Given the description of an element on the screen output the (x, y) to click on. 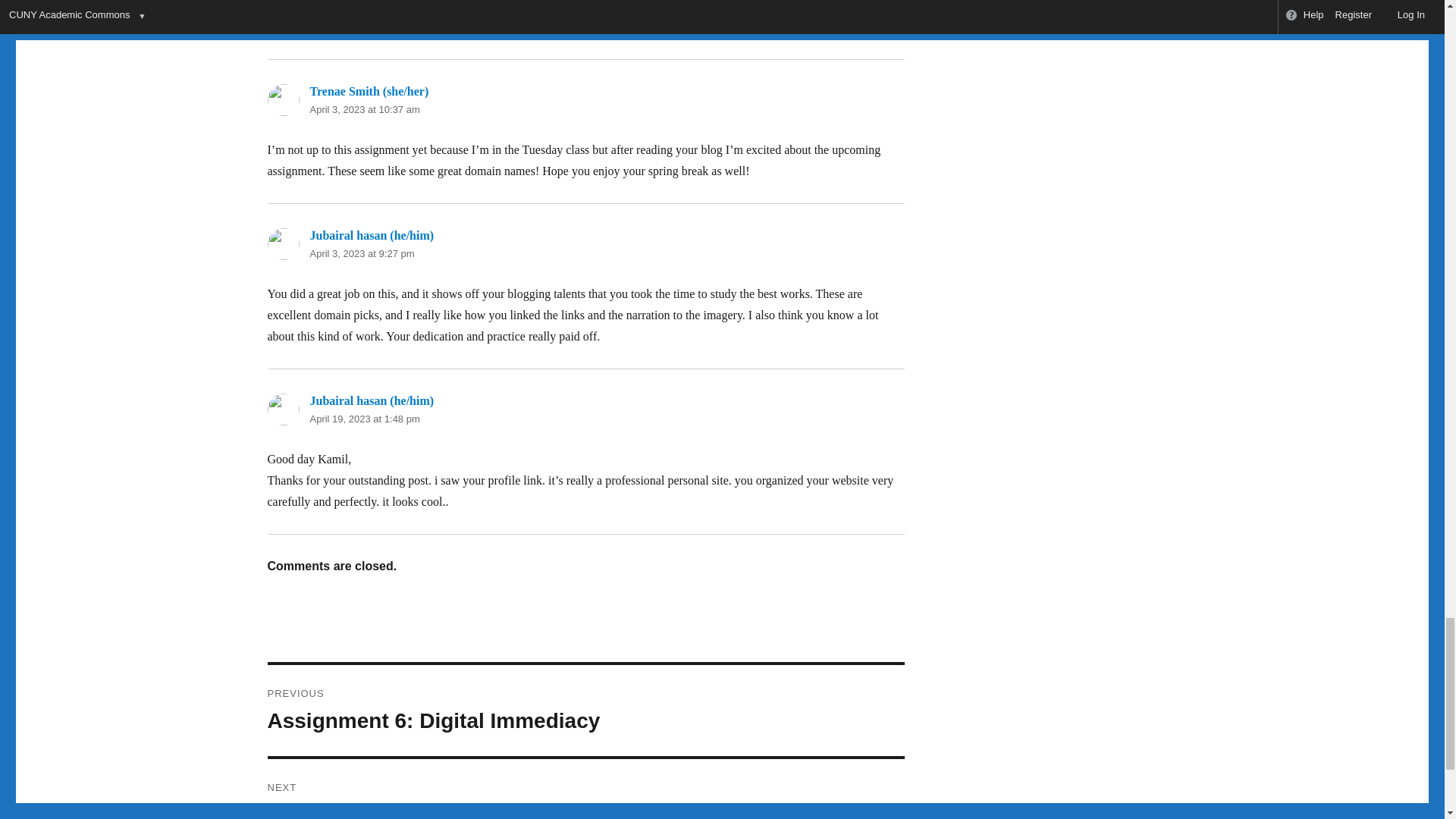
April 3, 2023 at 9:27 pm (360, 253)
April 19, 2023 at 1:48 pm (363, 419)
April 3, 2023 at 10:37 am (363, 109)
